Given the description of an element on the screen output the (x, y) to click on. 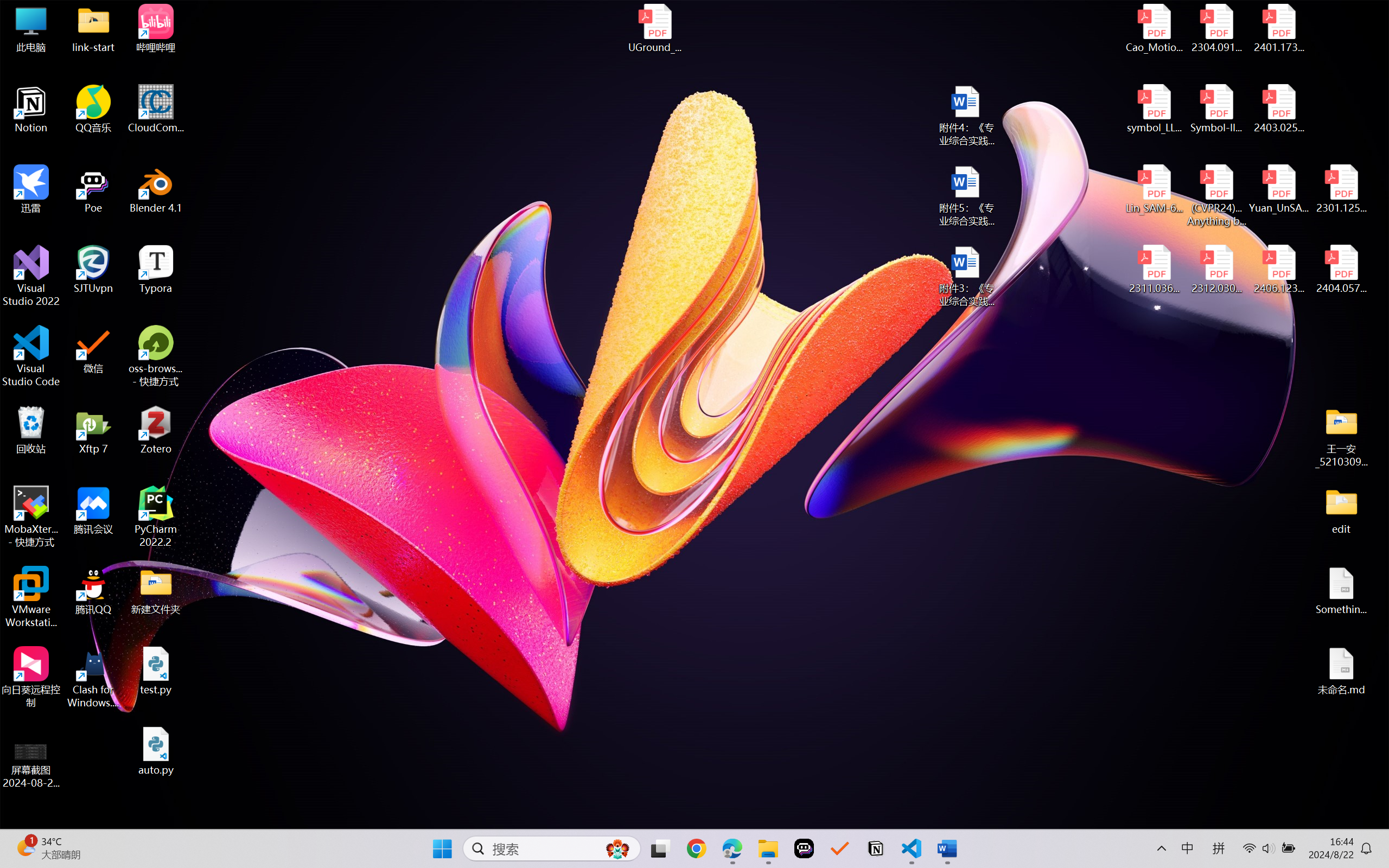
2403.02502v1.pdf (1278, 109)
Google Chrome (696, 848)
(CVPR24)Matching Anything by Segmenting Anything.pdf (1216, 195)
2301.12597v3.pdf (1340, 189)
